Given the description of an element on the screen output the (x, y) to click on. 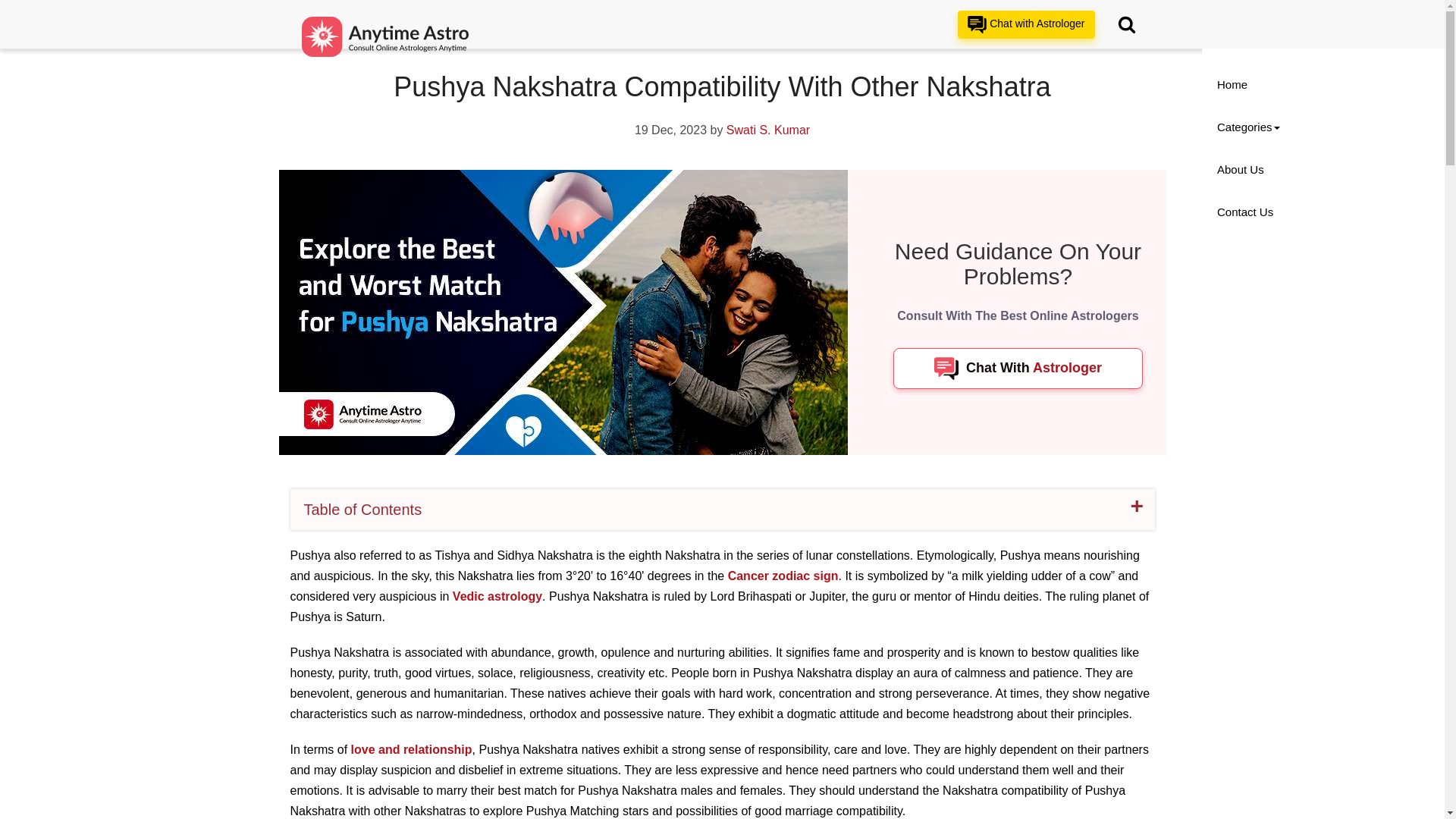
Chat with Astrologer (1026, 24)
Nakshatra (359, 14)
Chat With Astrologer (1017, 368)
Home (303, 14)
Cancer zodiac sign (783, 575)
Vedic astrology (496, 595)
Table of Contents (721, 509)
